Given the description of an element on the screen output the (x, y) to click on. 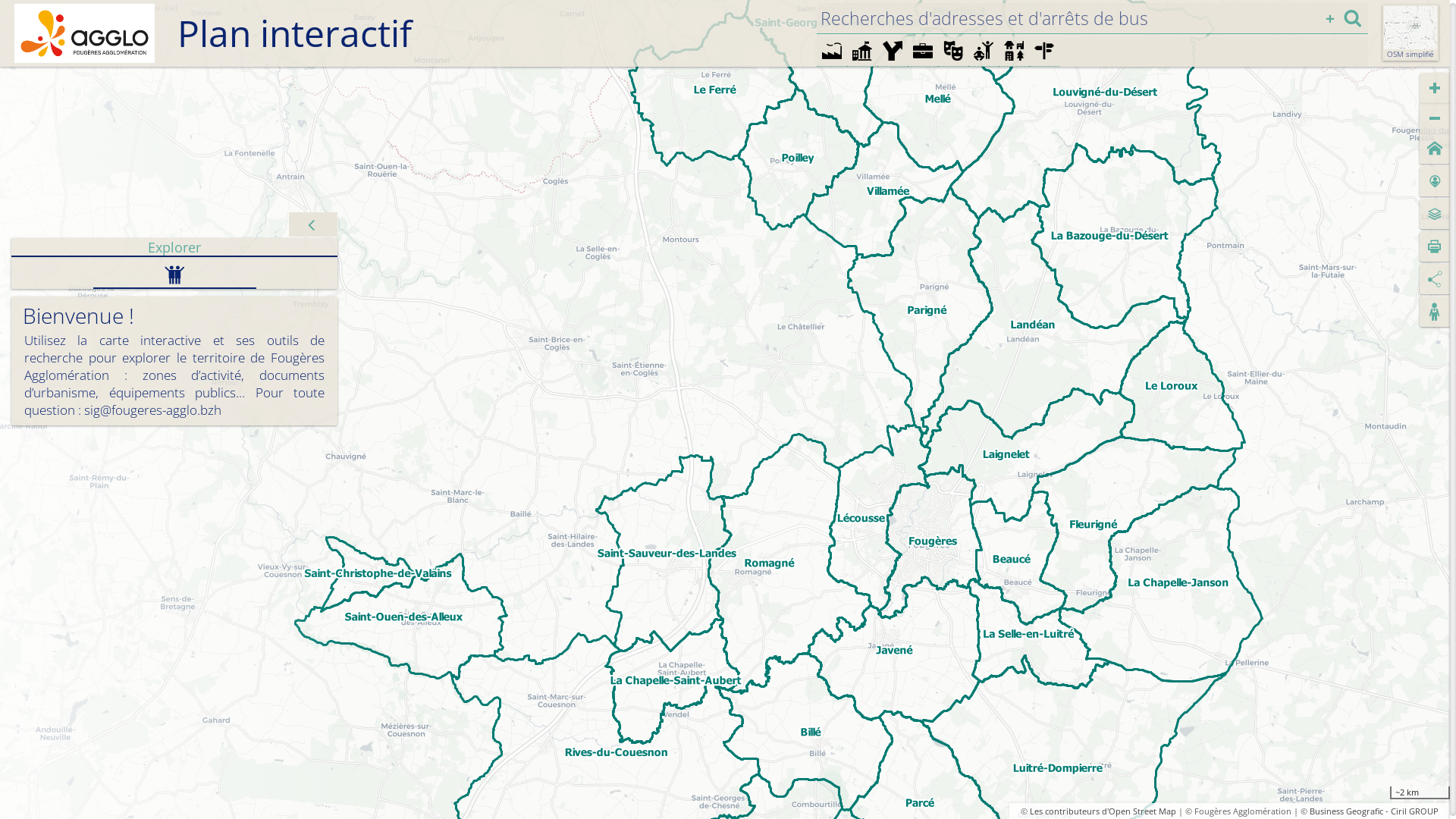
Enseignement Element type: hover (922, 50)
Zoom moins Element type: hover (1434, 118)
Urbanisme Element type: hover (1013, 50)
Afficher / masquer le panneau Element type: hover (312, 224)
Afficher ma position Element type: hover (1434, 181)
Sports & loisirs Element type: hover (983, 50)
Partage de lien Element type: hover (1434, 278)
Business Geografic - Ciril GROUP Element type: text (1373, 810)
Les contributeurs d'Open Street Map Element type: text (1102, 810)
Culture Element type: hover (953, 50)
Zoom plus Element type: hover (1434, 87)
Street View Element type: hover (1434, 311)
Transport Element type: hover (892, 50)
Introduction Element type: hover (173, 272)
Services publics Element type: hover (862, 50)
Accueil Element type: hover (1434, 148)
